Given the description of an element on the screen output the (x, y) to click on. 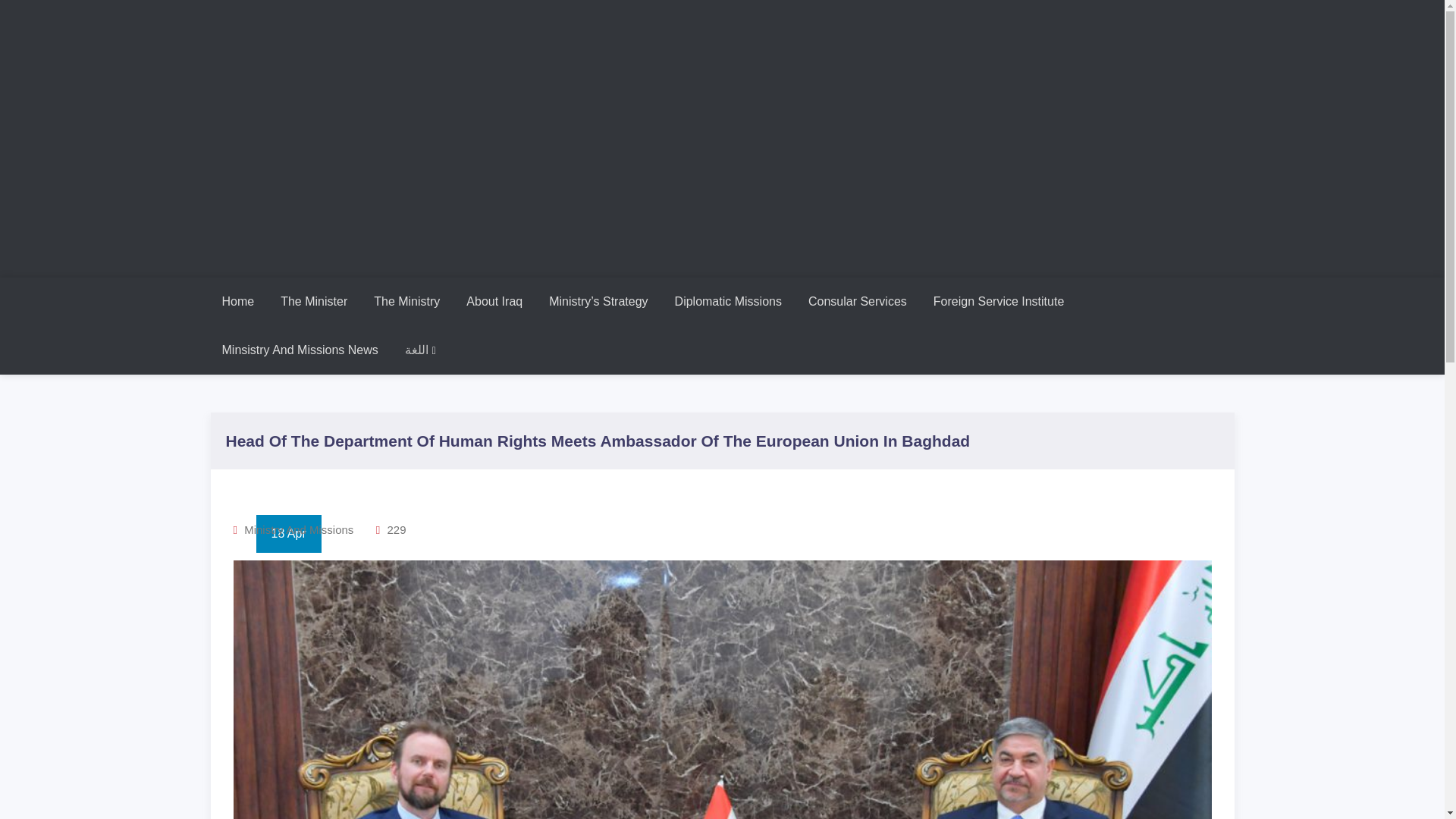
Home (238, 301)
The Minister (313, 301)
Diplomatic Missions (728, 301)
Consular Services (857, 301)
About Iraq (494, 301)
The Ministry (406, 301)
